Given the description of an element on the screen output the (x, y) to click on. 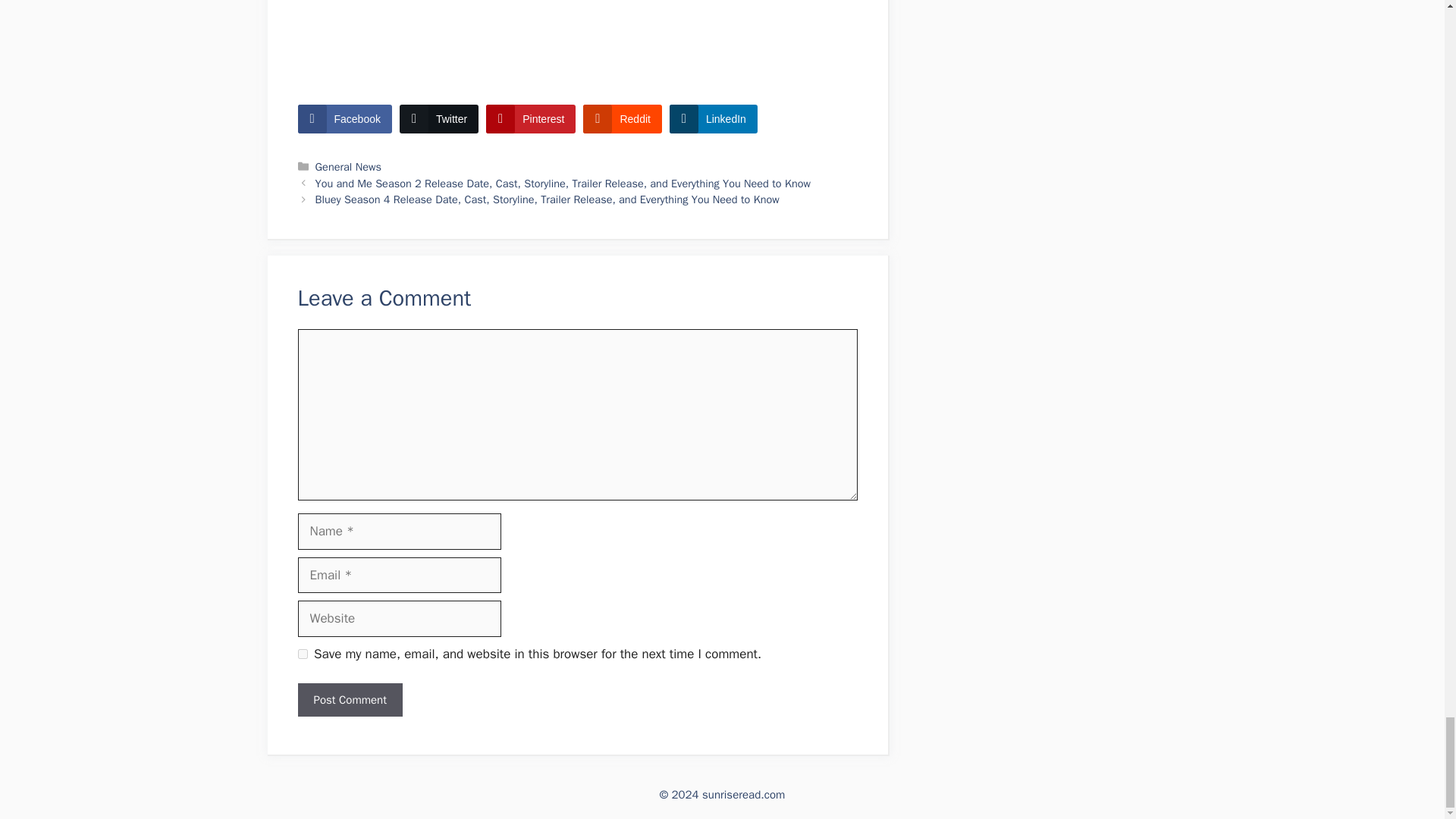
LinkedIn (713, 118)
Facebook (344, 118)
Reddit (622, 118)
General News (348, 166)
Pinterest (530, 118)
Twitter (438, 118)
yes (302, 654)
Post Comment (349, 700)
